Given the description of an element on the screen output the (x, y) to click on. 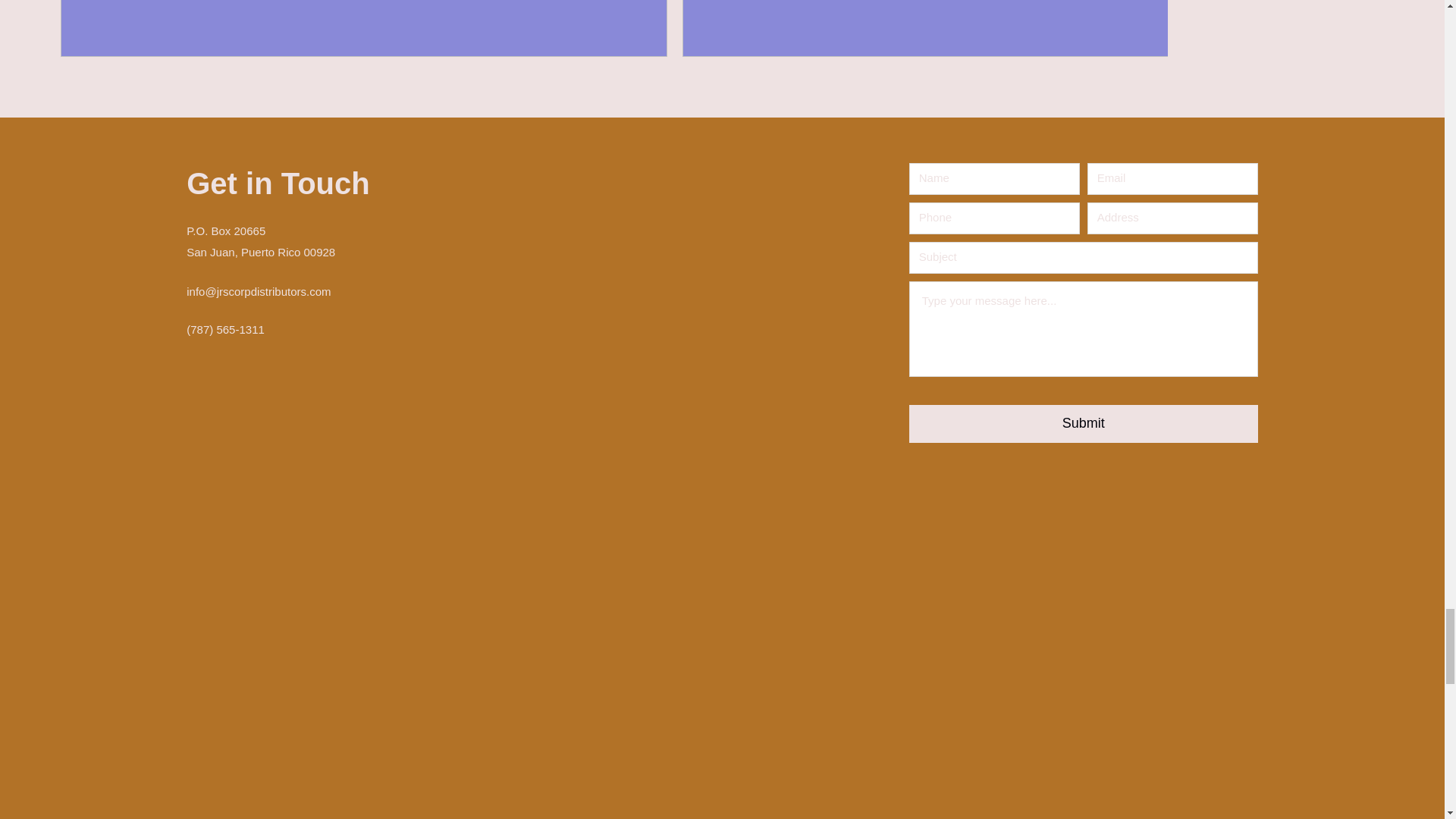
Submit (1082, 423)
